Given the description of an element on the screen output the (x, y) to click on. 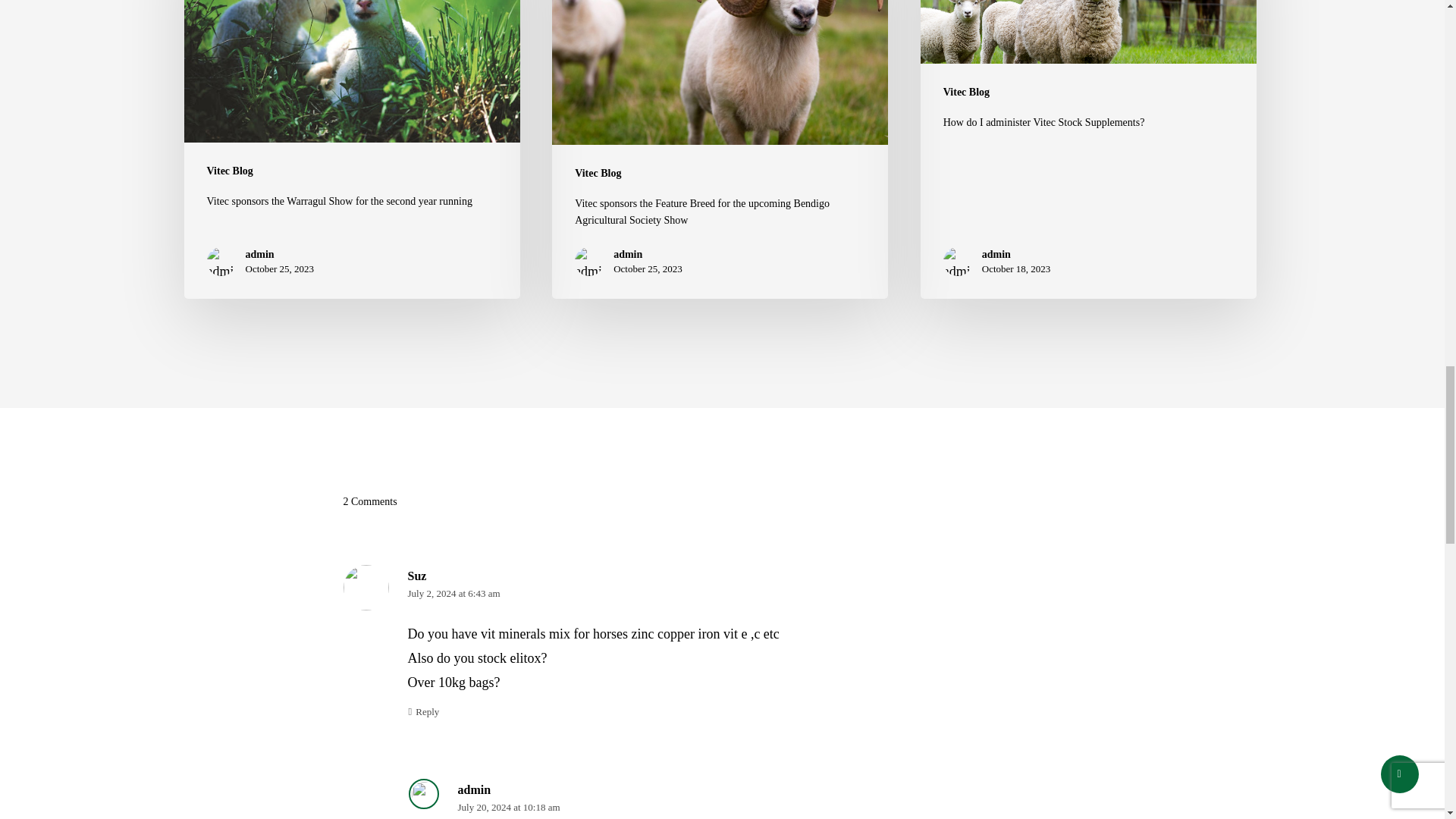
admin (280, 254)
Vitec Blog (228, 170)
